Given the description of an element on the screen output the (x, y) to click on. 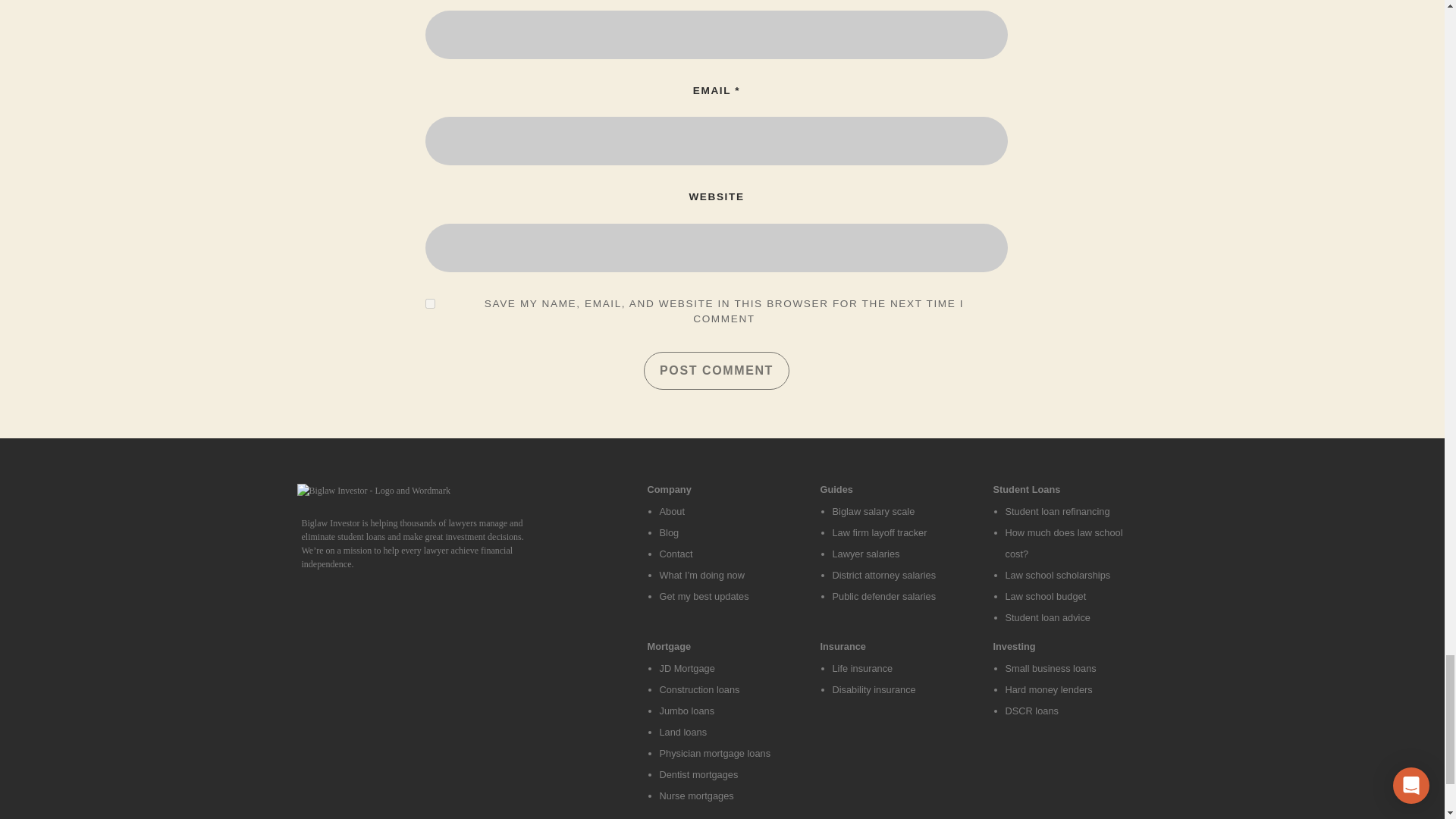
Post Comment (716, 370)
yes (430, 303)
